Given the description of an element on the screen output the (x, y) to click on. 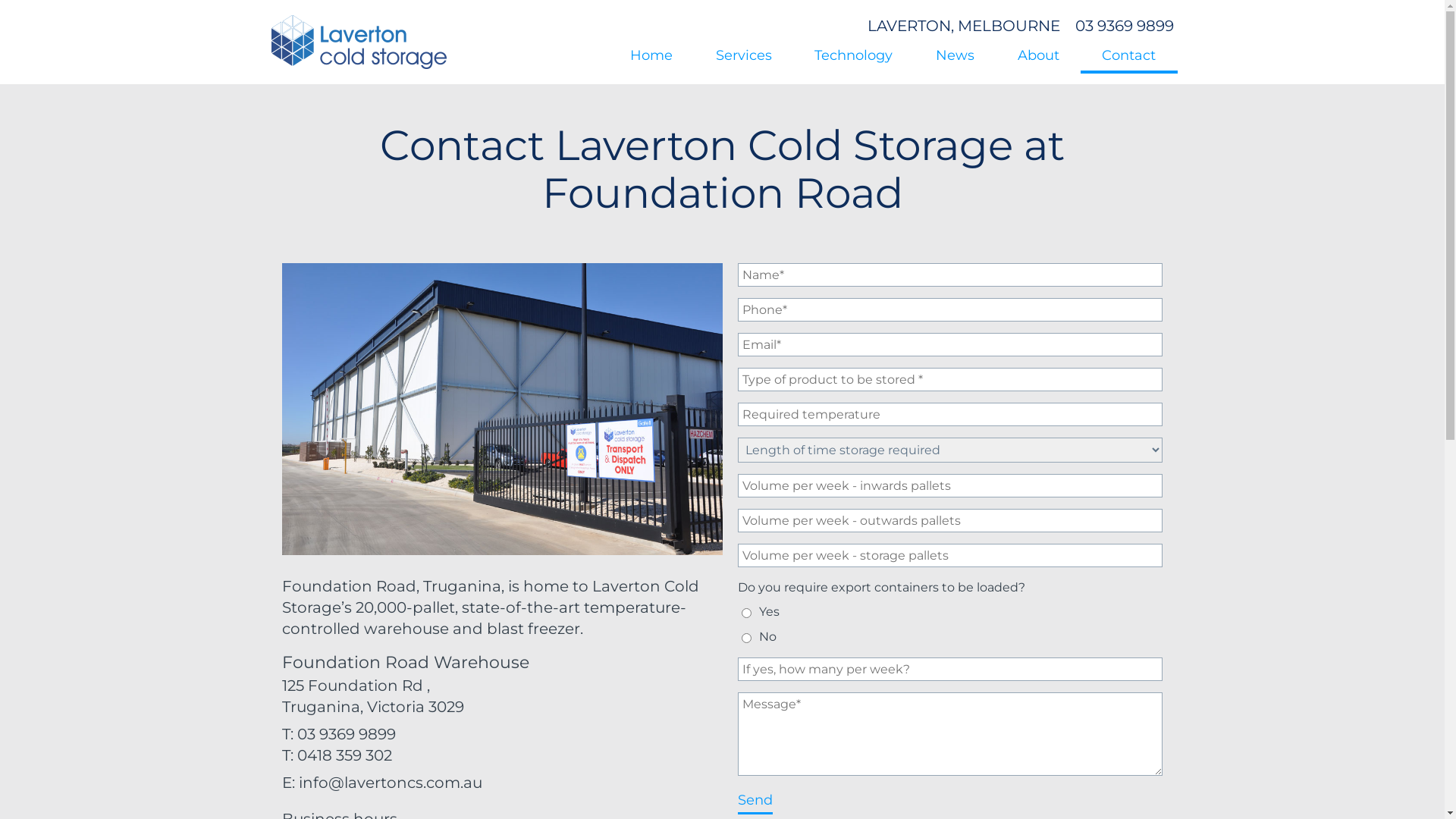
Services Element type: text (743, 55)
Home Element type: text (650, 55)
Technology Element type: text (853, 55)
Send Element type: text (754, 800)
Contact Element type: text (1128, 55)
News Element type: text (955, 55)
About Element type: text (1037, 55)
